Given the description of an element on the screen output the (x, y) to click on. 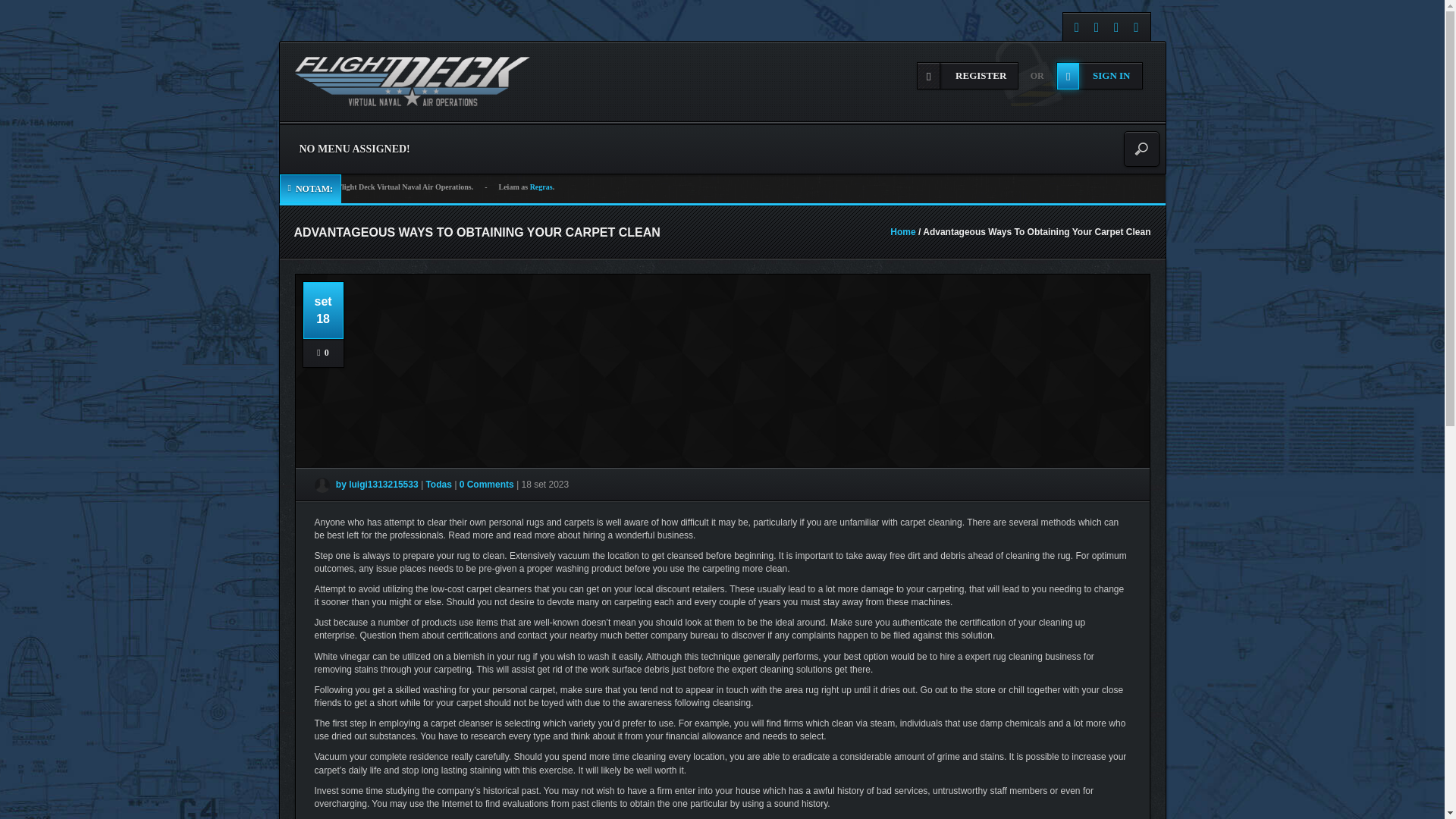
0 (322, 352)
Todas (439, 484)
Regras (541, 186)
Love this (322, 352)
REGISTER (967, 75)
Home (902, 231)
0 Comments (486, 484)
NO MENU ASSIGNED! (354, 149)
by luigi1313215533 (365, 484)
SIGN IN (1099, 75)
